Given the description of an element on the screen output the (x, y) to click on. 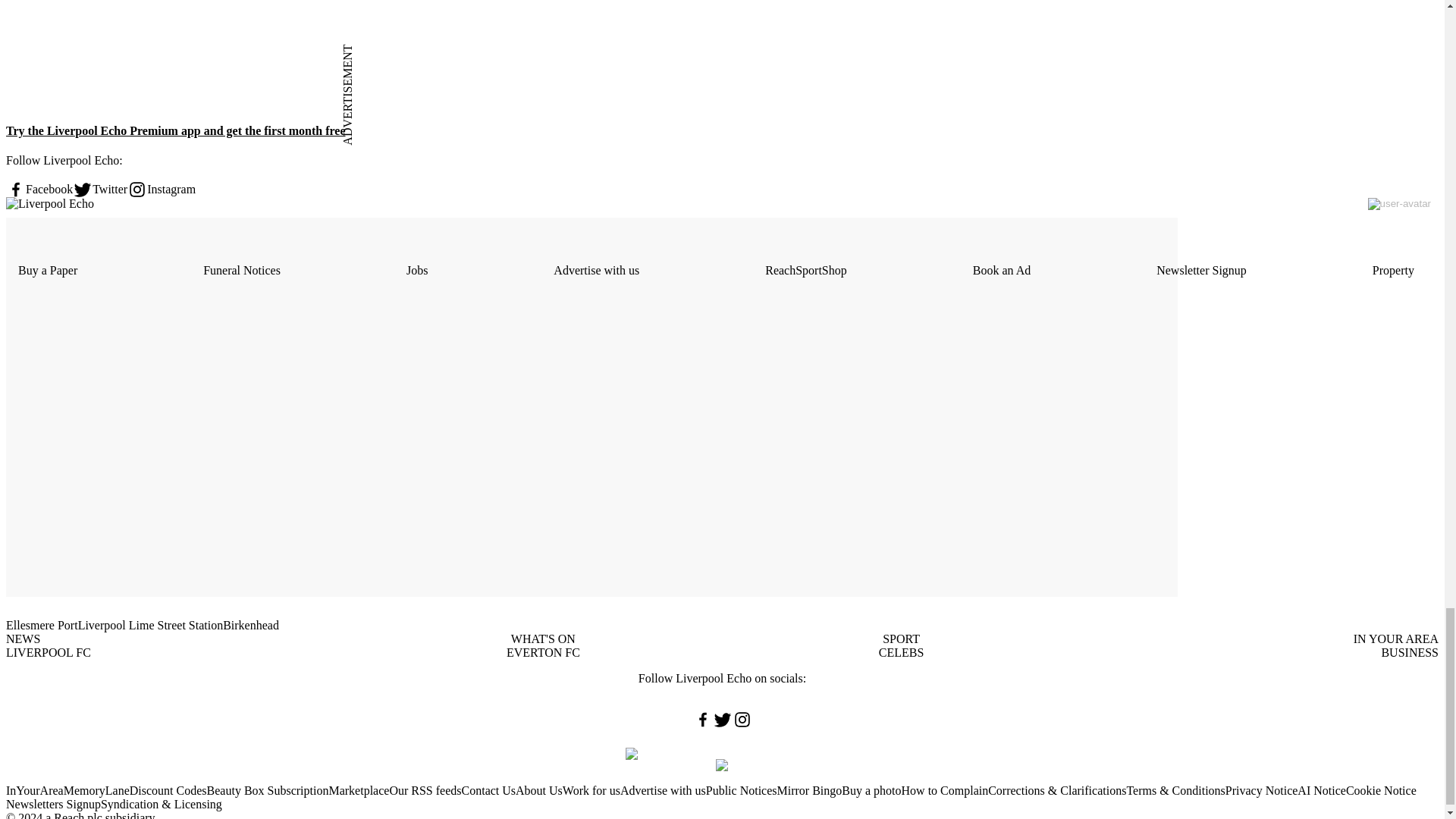
Twitter (100, 189)
Facebook (38, 189)
Instagram (161, 189)
